Given the description of an element on the screen output the (x, y) to click on. 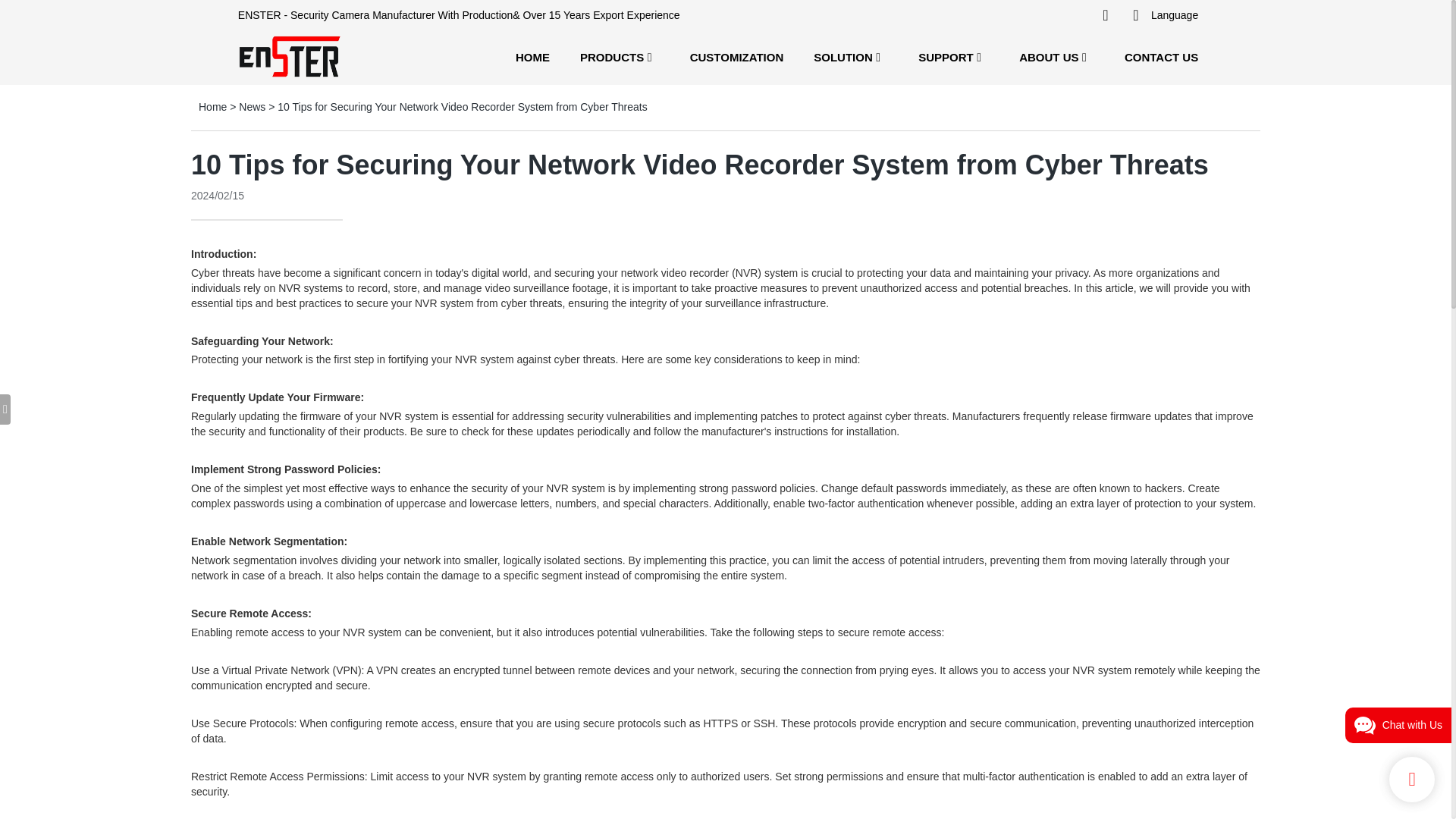
HOME (532, 56)
PRODUCTS (611, 56)
